Given the description of an element on the screen output the (x, y) to click on. 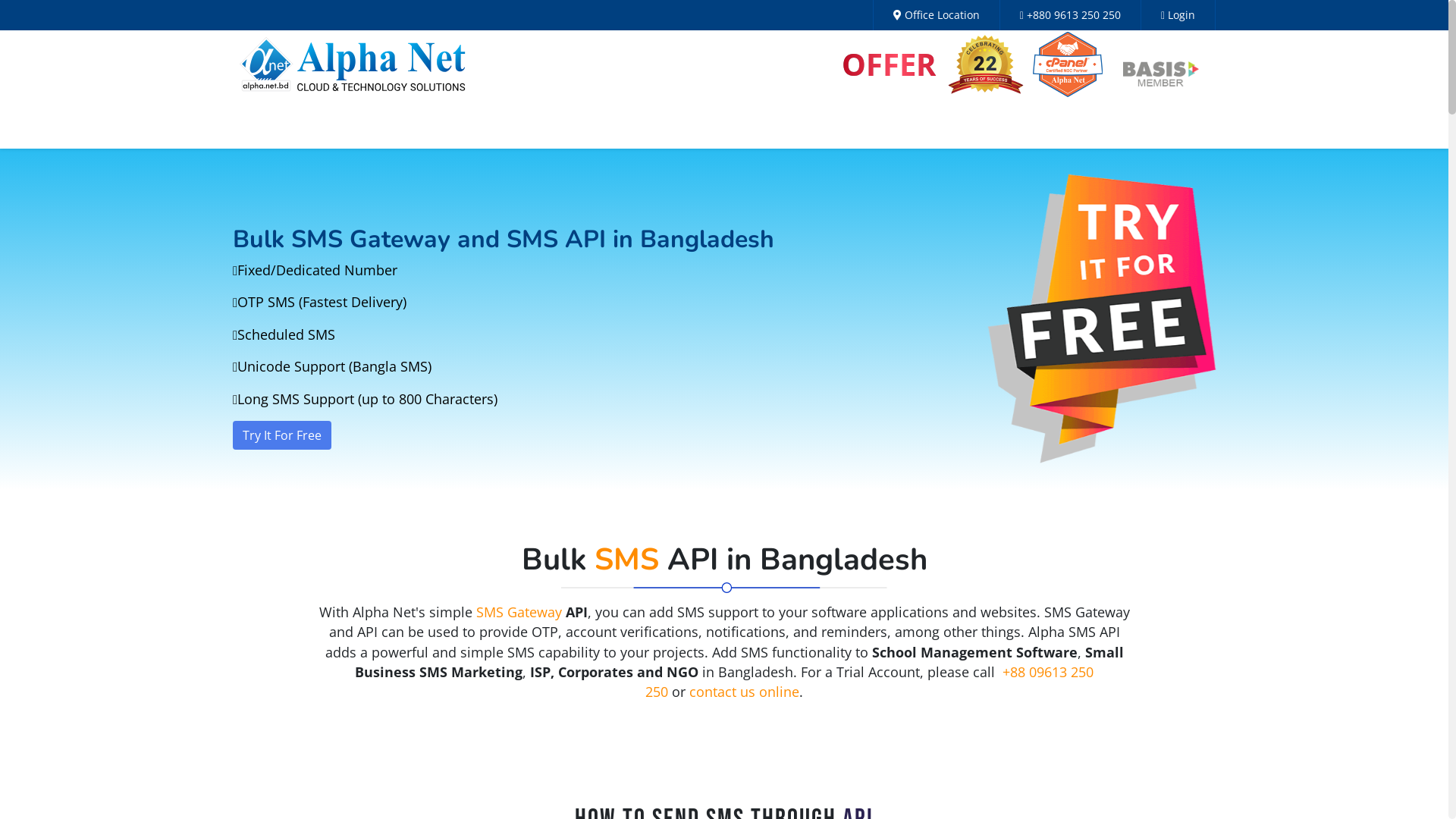
Office Location Element type: text (936, 15)
Login Element type: text (1177, 15)
SMS Gateway Element type: text (518, 611)
contact us online Element type: text (744, 691)
Try It For Free Element type: text (281, 434)
+88 09613 250 250 Element type: text (869, 681)
+880 9613 250 250 Element type: text (1070, 15)
OFFER Element type: text (888, 63)
